Given the description of an element on the screen output the (x, y) to click on. 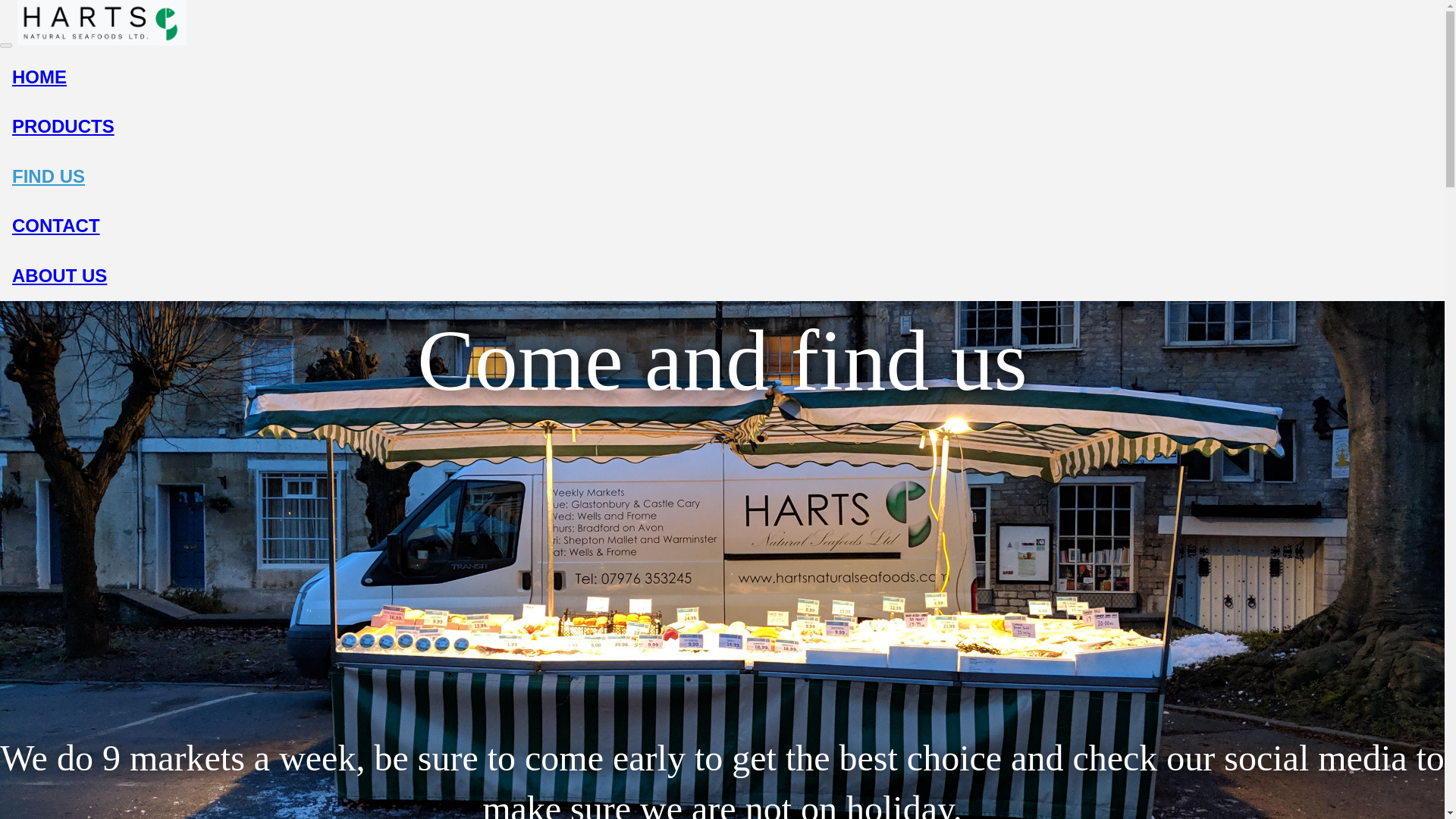
FIND US (47, 176)
ABOUT US (58, 275)
HOME (38, 76)
PRODUCTS (63, 126)
CONTACT (55, 225)
